Given the description of an element on the screen output the (x, y) to click on. 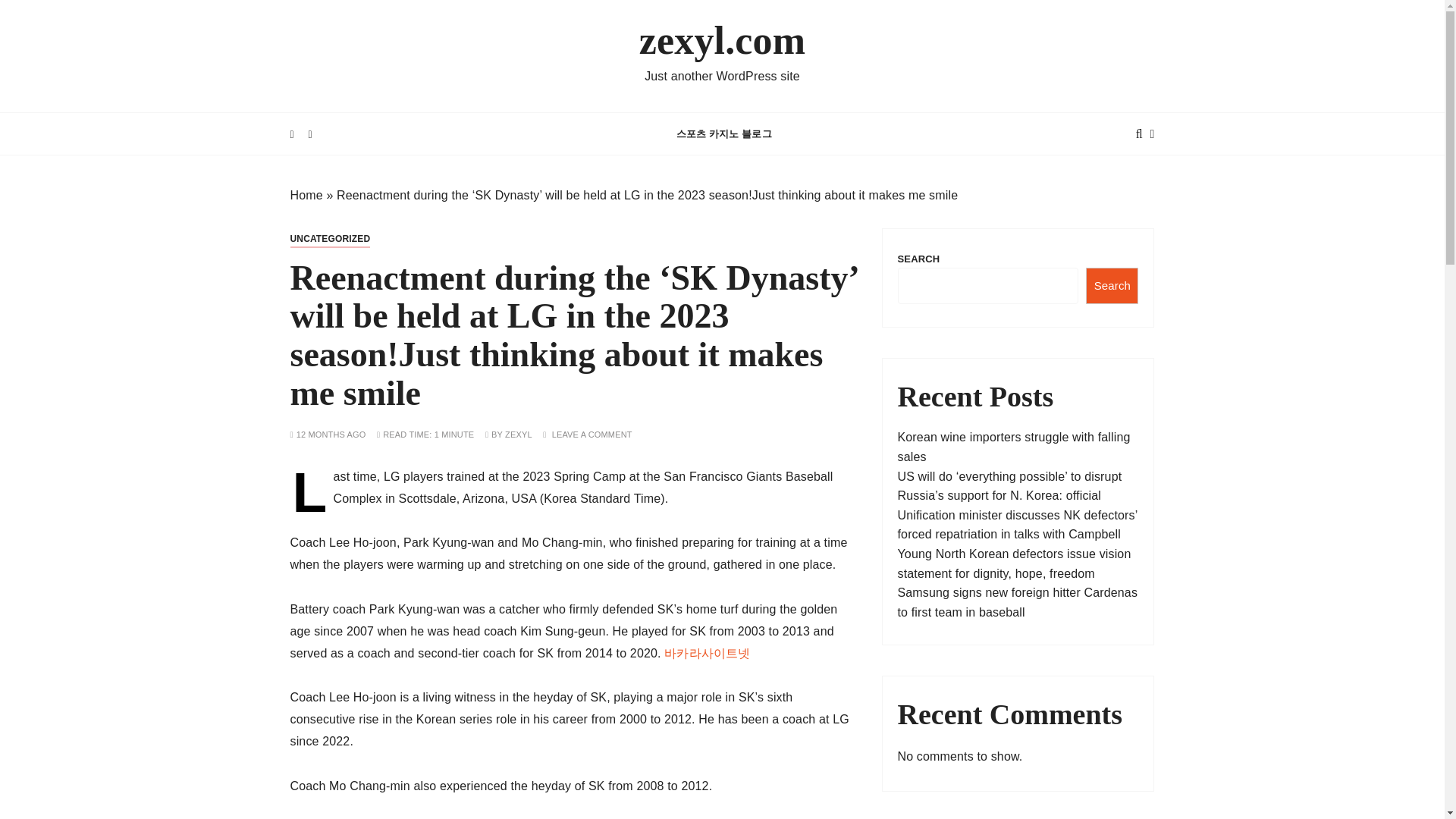
zexyl.com (722, 40)
LEAVE A COMMENT (591, 434)
UNCATEGORIZED (329, 239)
ZEXYL (518, 434)
Home (305, 195)
Korean wine importers struggle with falling sales (1014, 446)
Search (1112, 285)
